Given the description of an element on the screen output the (x, y) to click on. 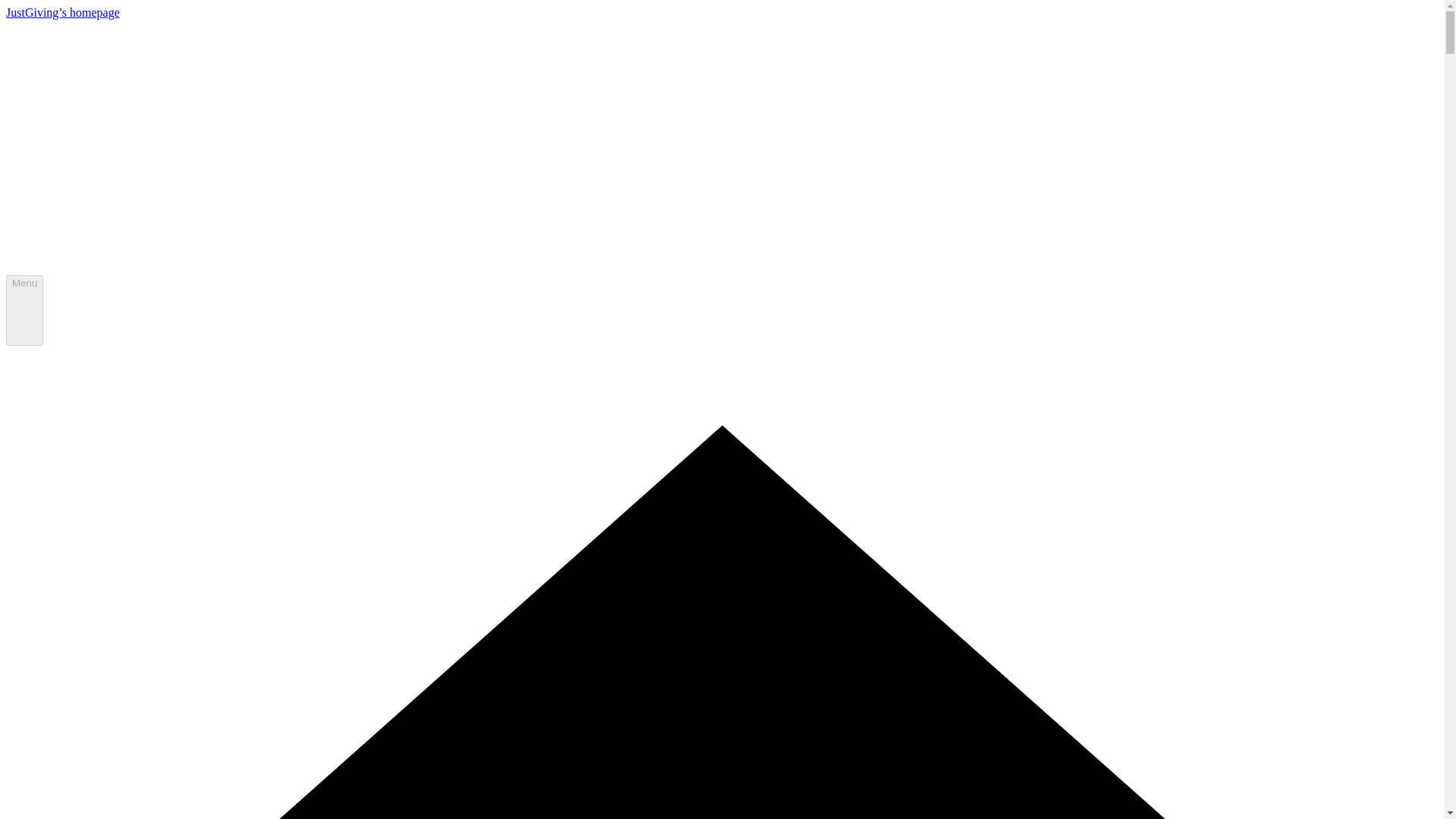
Menu (24, 310)
